Given the description of an element on the screen output the (x, y) to click on. 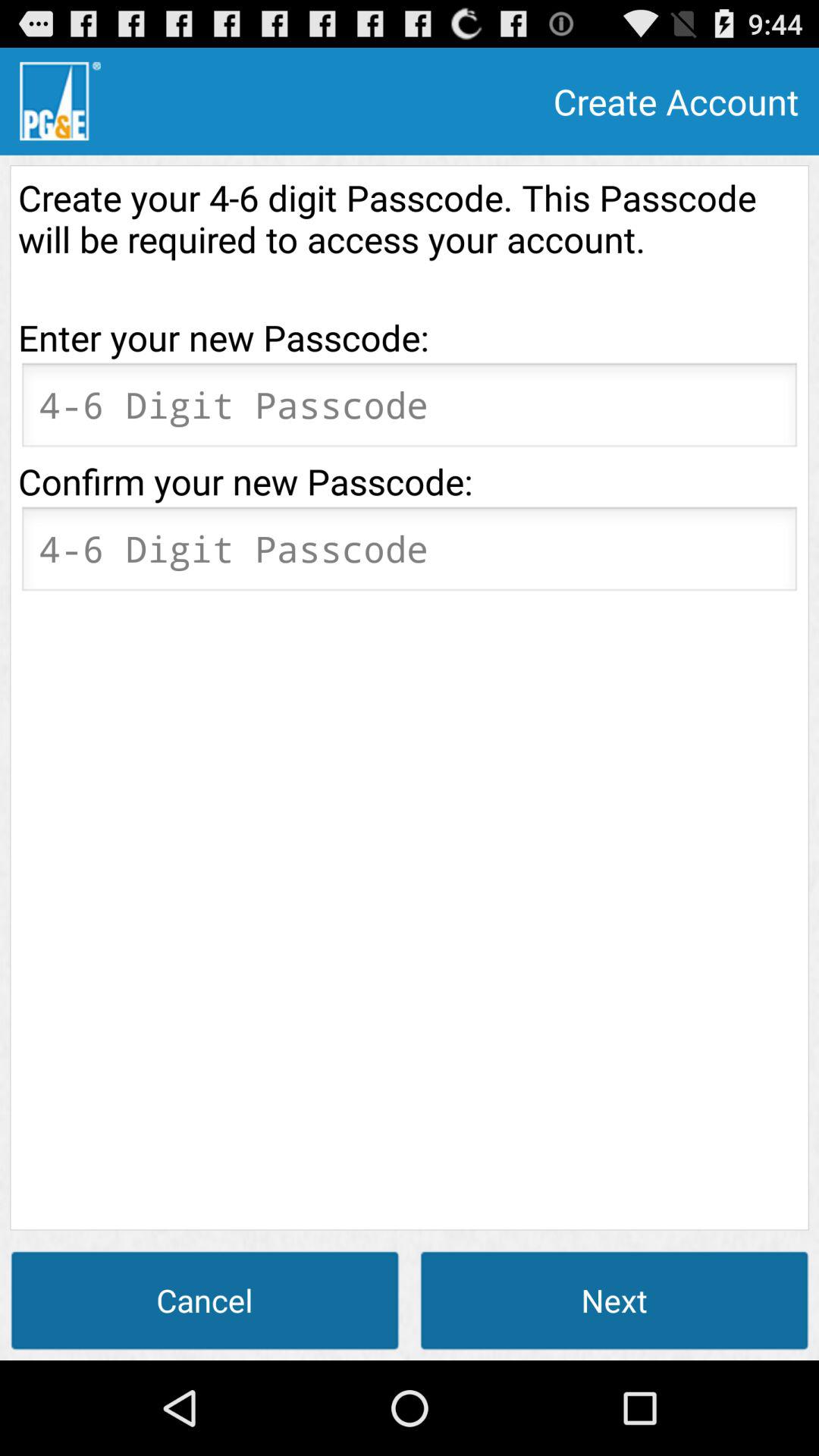
press the icon to the right of the cancel icon (613, 1300)
